Given the description of an element on the screen output the (x, y) to click on. 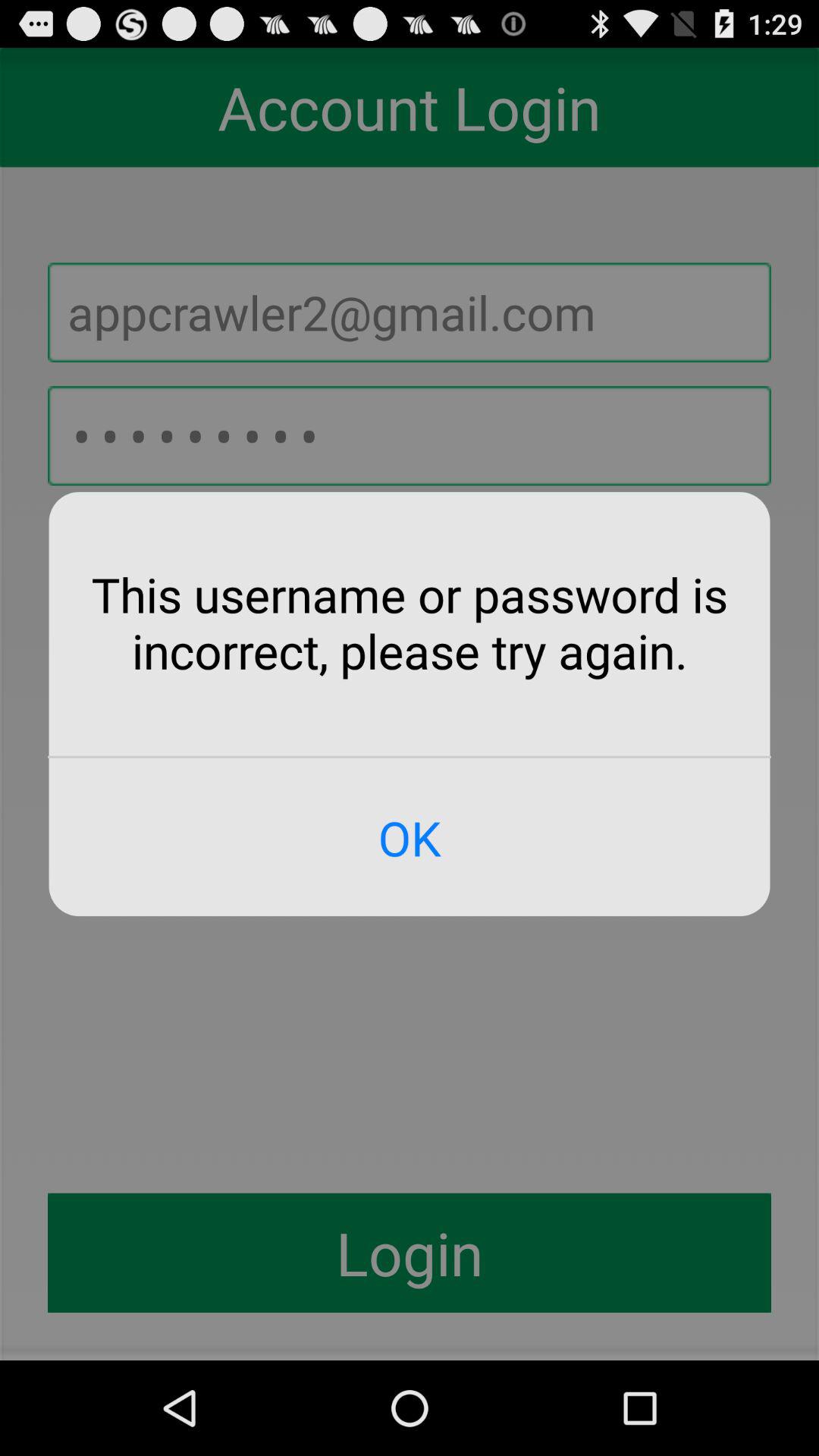
swipe until ok (409, 837)
